Given the description of an element on the screen output the (x, y) to click on. 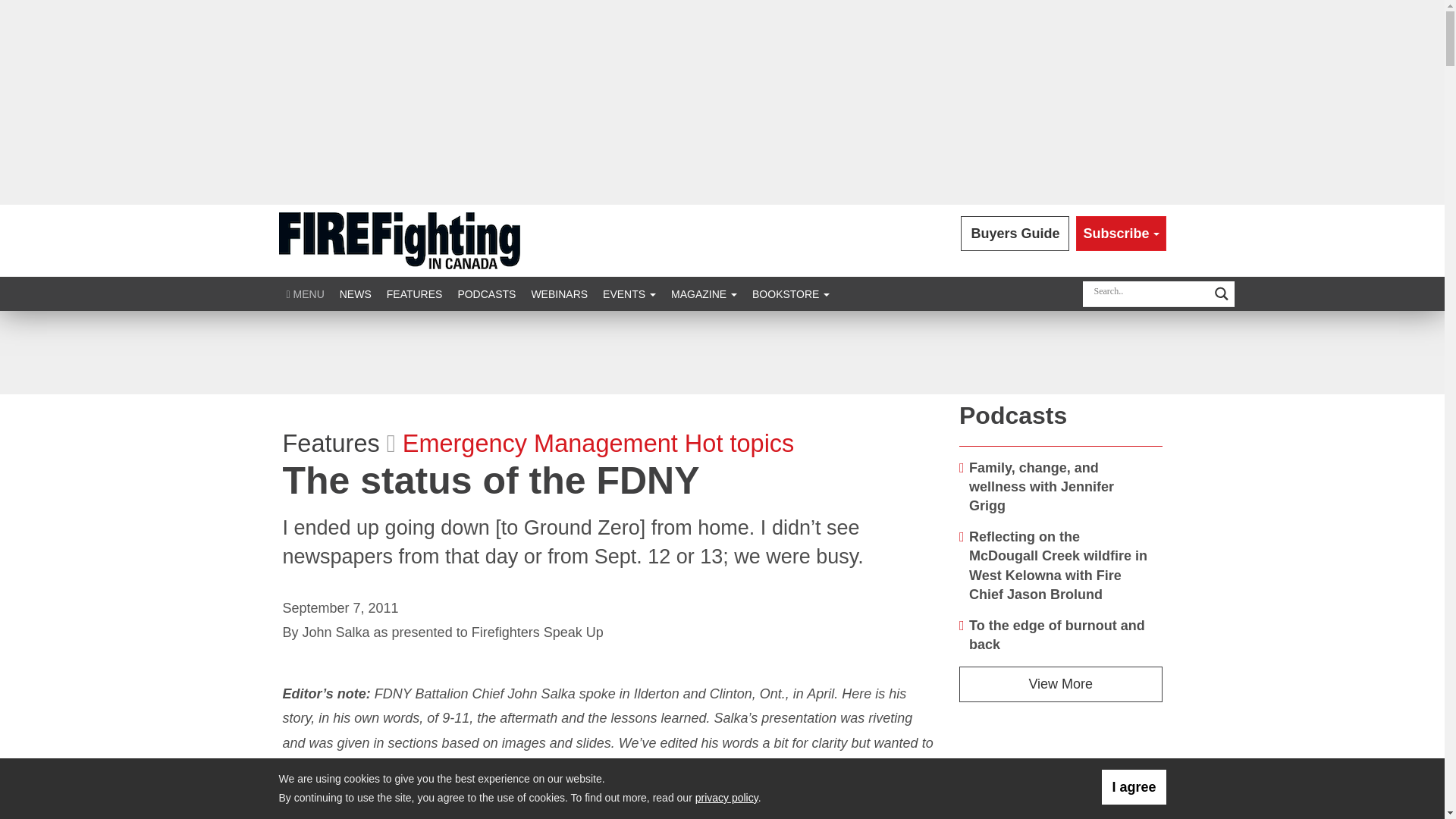
MENU (305, 293)
3rd party ad content (721, 352)
Buyers Guide (1014, 233)
BOOKSTORE (790, 293)
NEWS (354, 293)
WEBINARS (558, 293)
MAGAZINE (703, 293)
Fire Fighting in Canada (399, 239)
Buyers Guide (1014, 233)
FEATURES (413, 293)
PODCASTS (485, 293)
EVENTS (629, 293)
Click to show site navigation (305, 293)
